Given the description of an element on the screen output the (x, y) to click on. 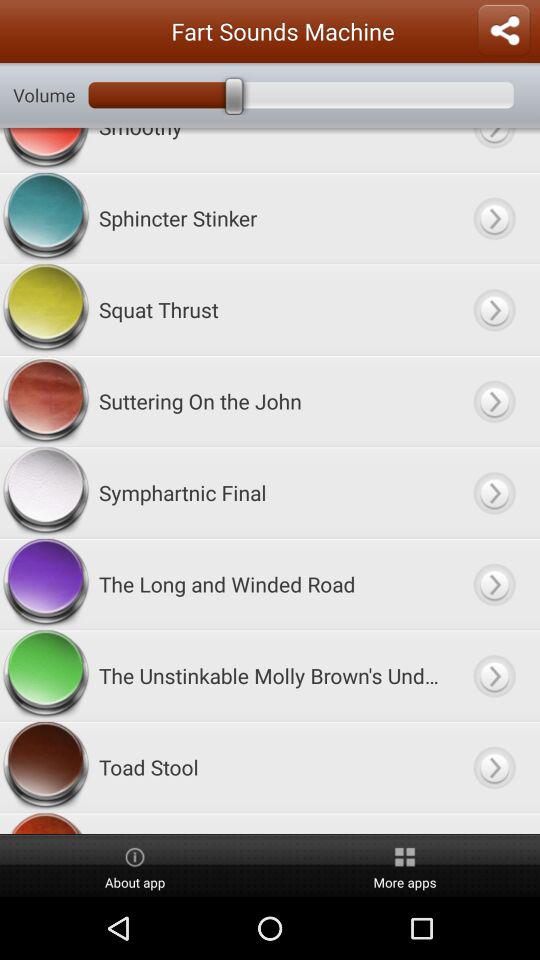
go to sphincter stinker item (494, 218)
